Given the description of an element on the screen output the (x, y) to click on. 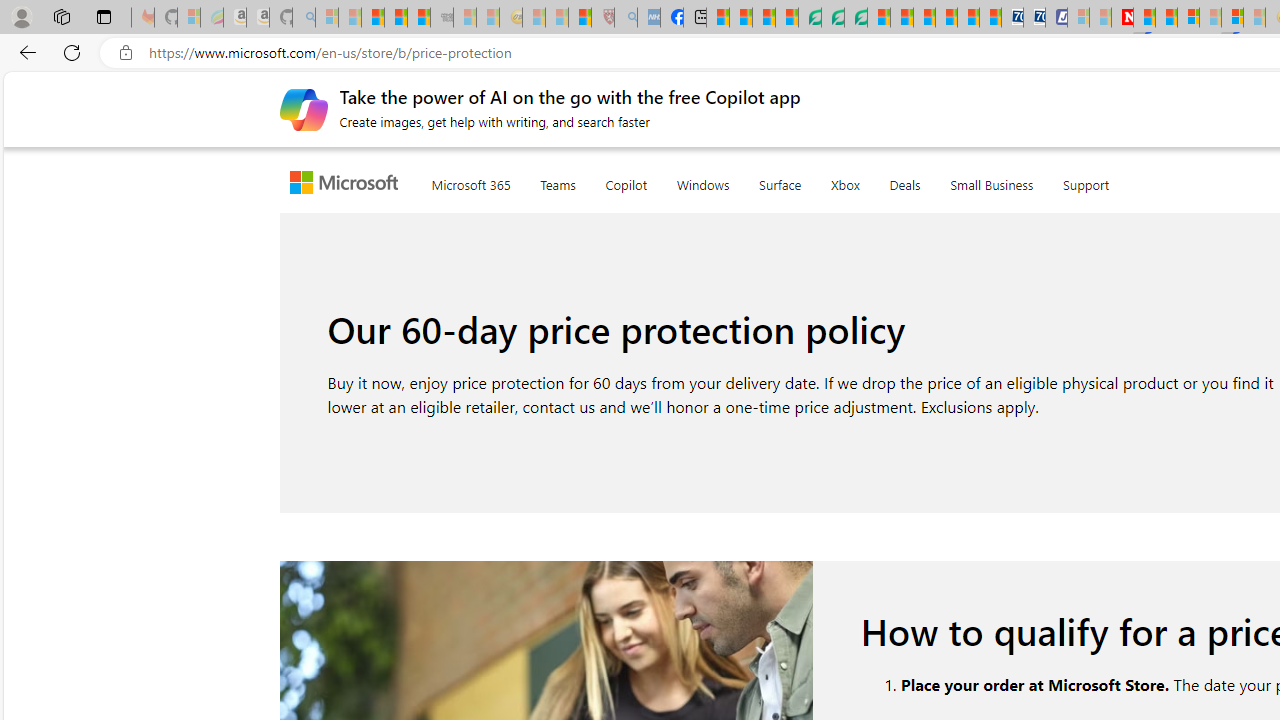
Combat Siege (442, 17)
Cheap Car Rentals - Save70.com (1012, 17)
Copilot (626, 181)
The Weather Channel - MSN (372, 17)
Deals (904, 180)
LendingTree - Compare Lenders (809, 17)
Cheap Hotels - Save70.com (1034, 17)
Teams (557, 180)
